Given the description of an element on the screen output the (x, y) to click on. 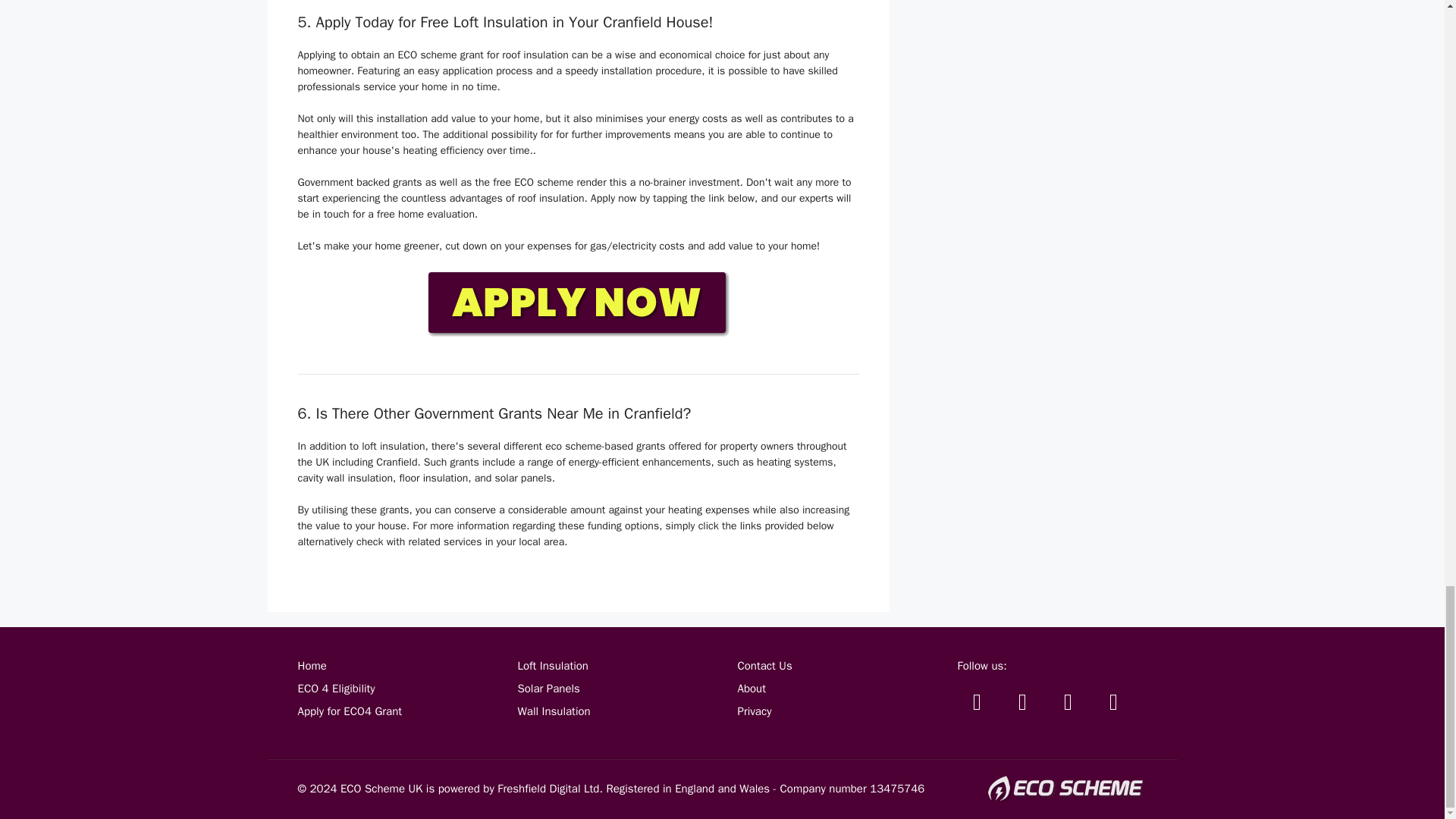
ecoschemeuk.com (1066, 788)
Twitter (975, 701)
Solar Panels (547, 688)
ECO Scheme UK (381, 788)
LinkedIn (1112, 701)
Apply for ECO4 Grant (349, 711)
ECO 4 Eligibility (335, 688)
YouTube (1067, 701)
Home (311, 665)
Privacy (753, 711)
